Given the description of an element on the screen output the (x, y) to click on. 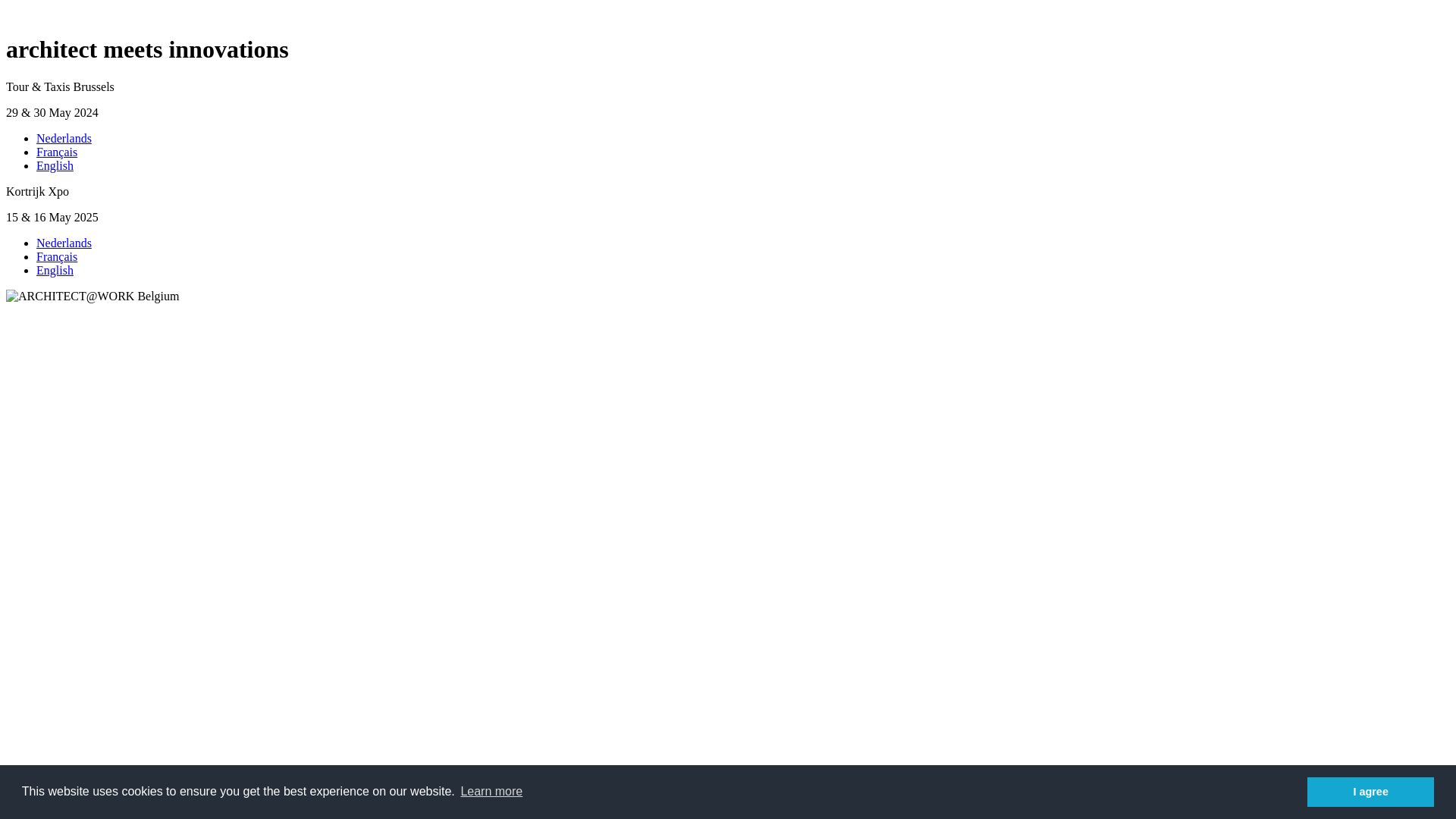
English Element type: text (54, 165)
I agree Element type: text (1370, 791)
ARCHITECT@WORK Belgium Element type: hover (92, 296)
Nederlands Element type: text (63, 242)
Nederlands Element type: text (63, 137)
English Element type: text (54, 269)
Learn more Element type: text (491, 791)
